Given the description of an element on the screen output the (x, y) to click on. 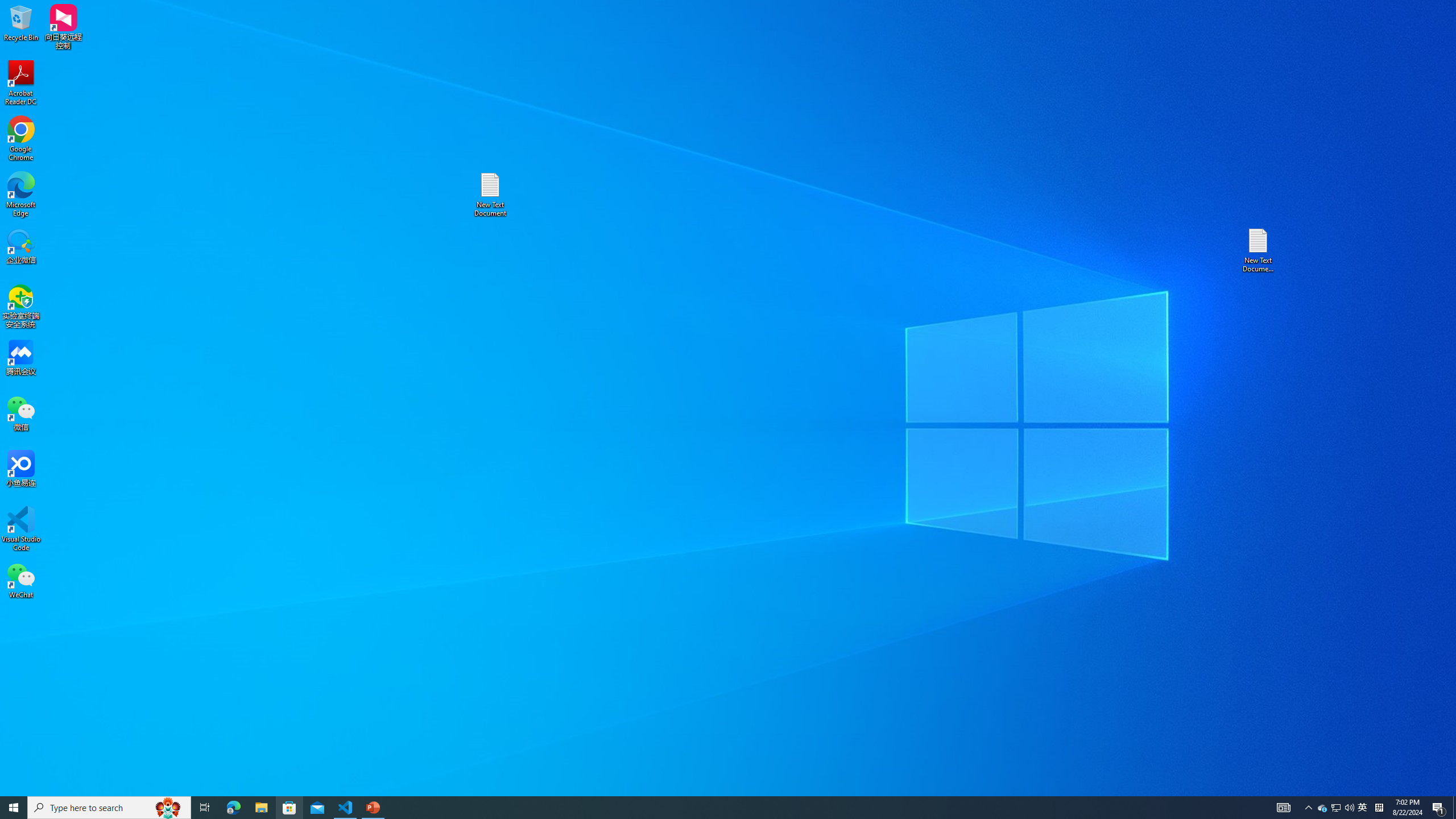
Visual Studio Code (21, 528)
Recycle Bin (21, 22)
New Text Document (2) (1258, 250)
New Text Document (489, 194)
Microsoft Edge (1322, 807)
